Given the description of an element on the screen output the (x, y) to click on. 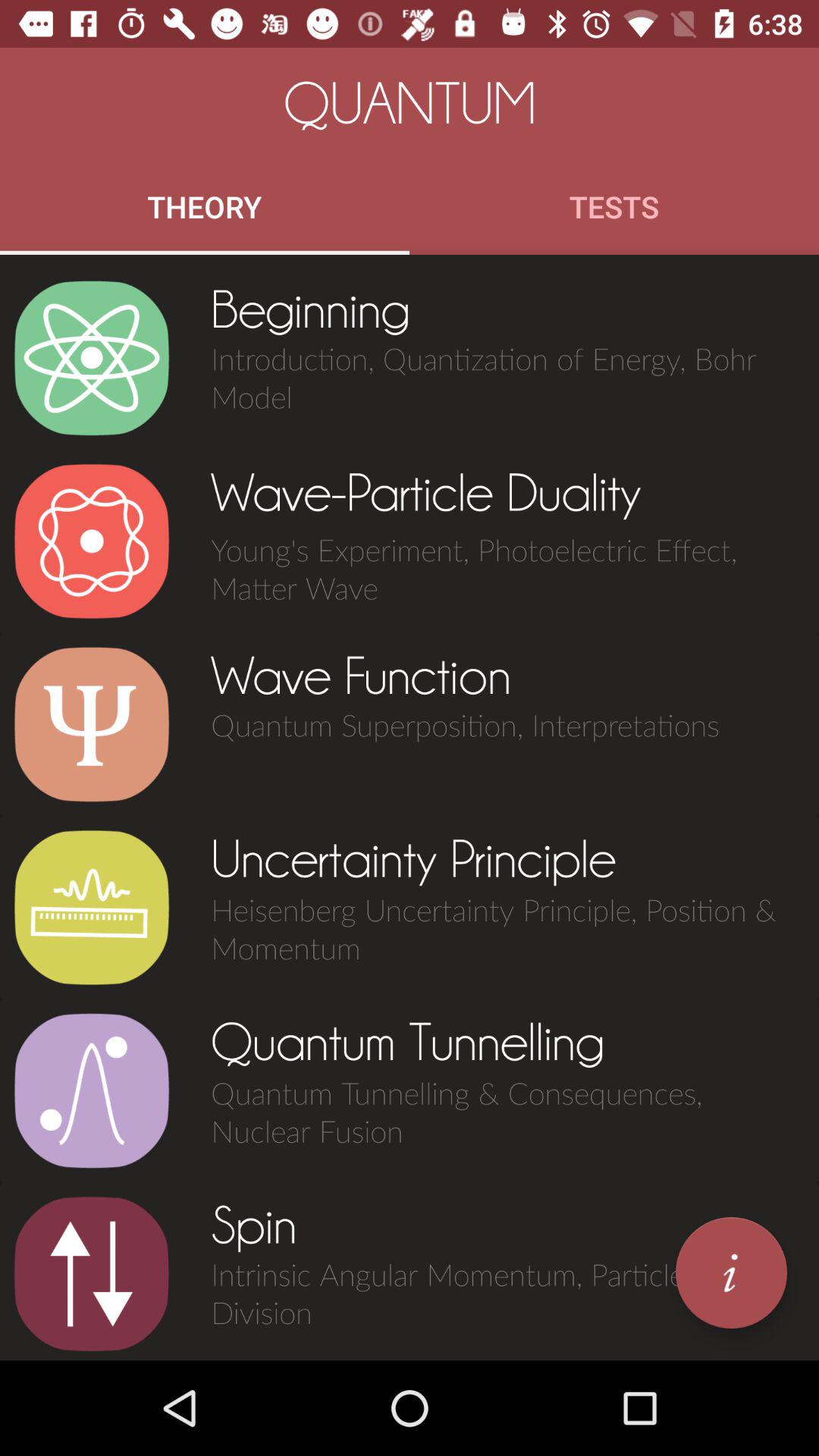
open information (731, 1272)
